Given the description of an element on the screen output the (x, y) to click on. 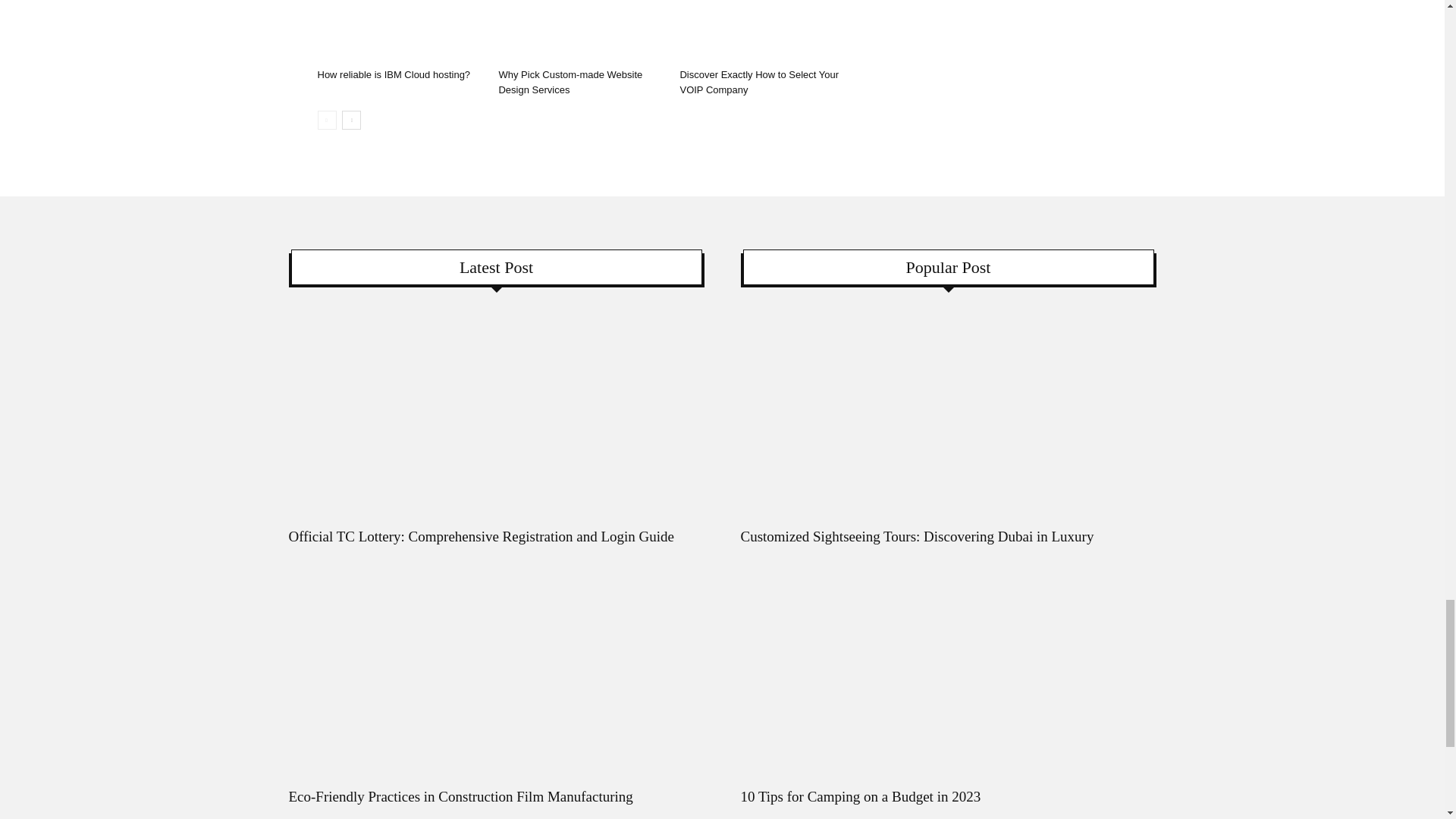
Why Pick Custom-made Website Design Services (580, 31)
How reliable is IBM Cloud hosting? (399, 31)
Why Pick Custom-made Website Design Services (569, 81)
Discover Exactly How to Select Your VOIP Company (761, 31)
How reliable is IBM Cloud hosting? (393, 74)
